Given the description of an element on the screen output the (x, y) to click on. 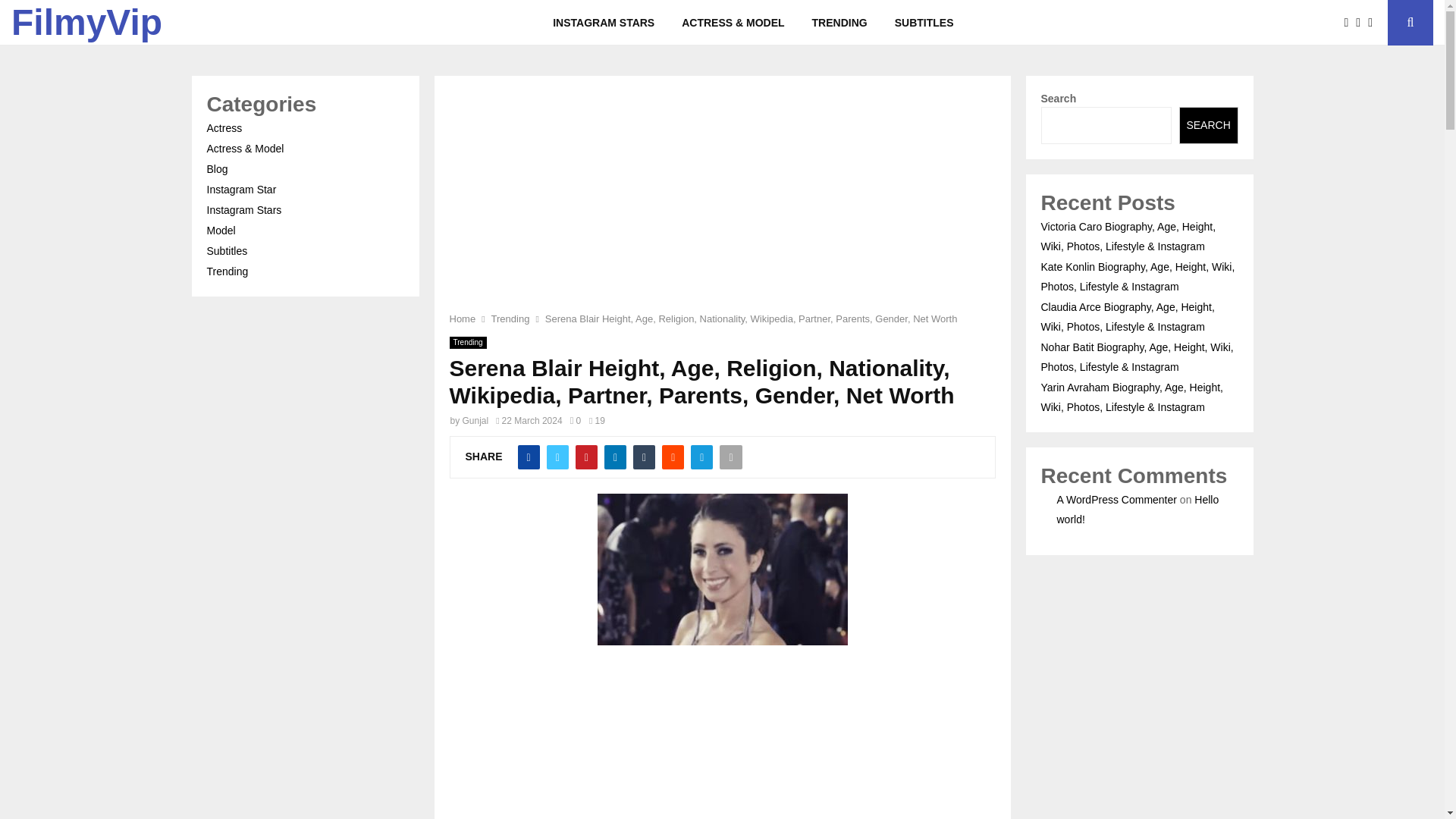
FilmyVip (86, 22)
Trending (467, 342)
TRENDING (838, 22)
Home (462, 318)
0 (575, 420)
Advertisement (721, 203)
SUBTITLES (924, 22)
Gunjal (476, 420)
Advertisement (721, 739)
INSTAGRAM STARS (603, 22)
Trending (510, 318)
